Given the description of an element on the screen output the (x, y) to click on. 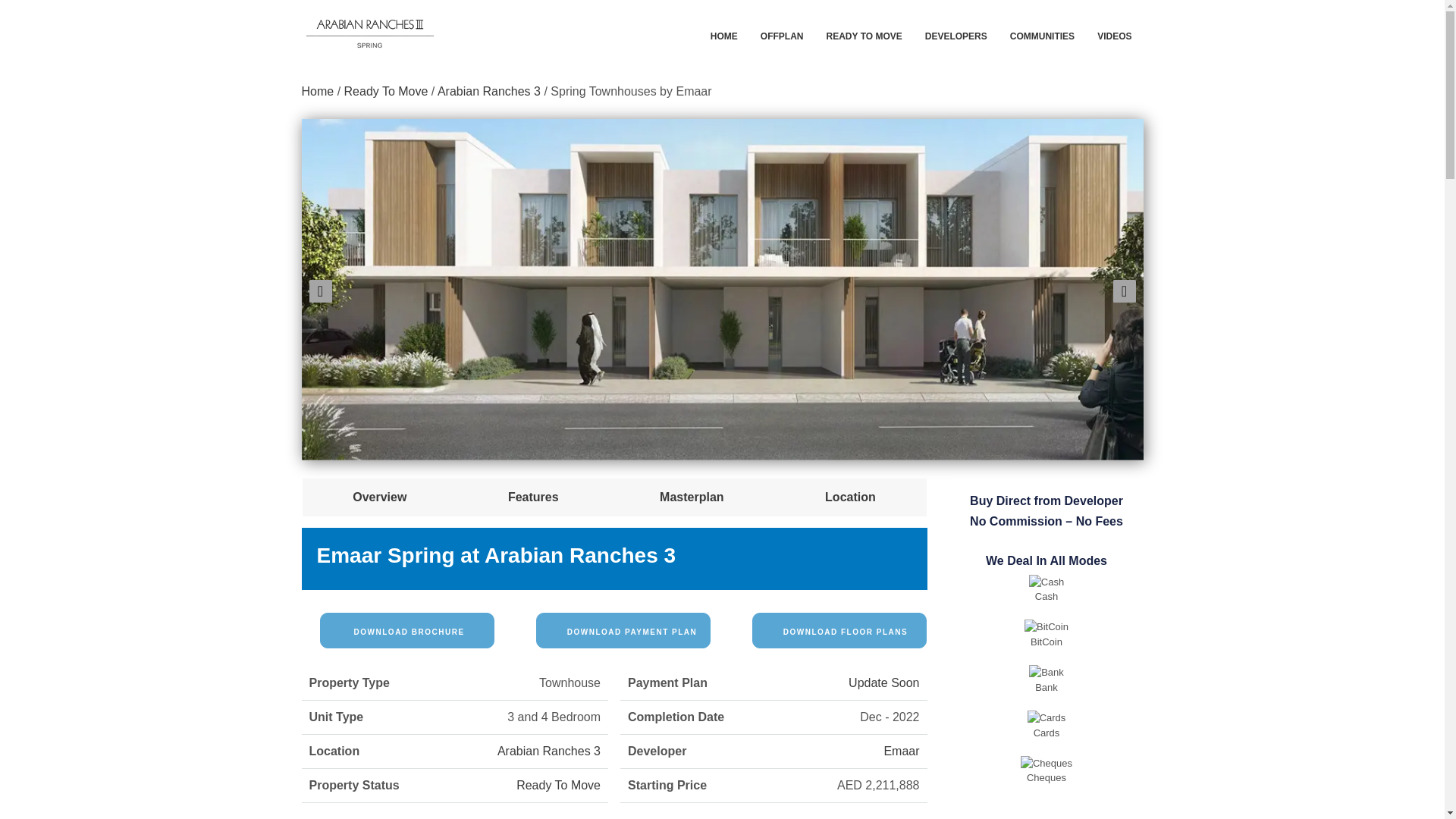
READY TO MOVE (864, 34)
Home (317, 91)
DEVELOPERS (956, 34)
Features (533, 496)
 DOWNLOAD BROCHURE (407, 630)
Overview (379, 496)
Location (850, 496)
Arabian Ranches 3 (489, 91)
3 and 4 Bedroom (552, 717)
COMMUNITIES (1042, 34)
